Given the description of an element on the screen output the (x, y) to click on. 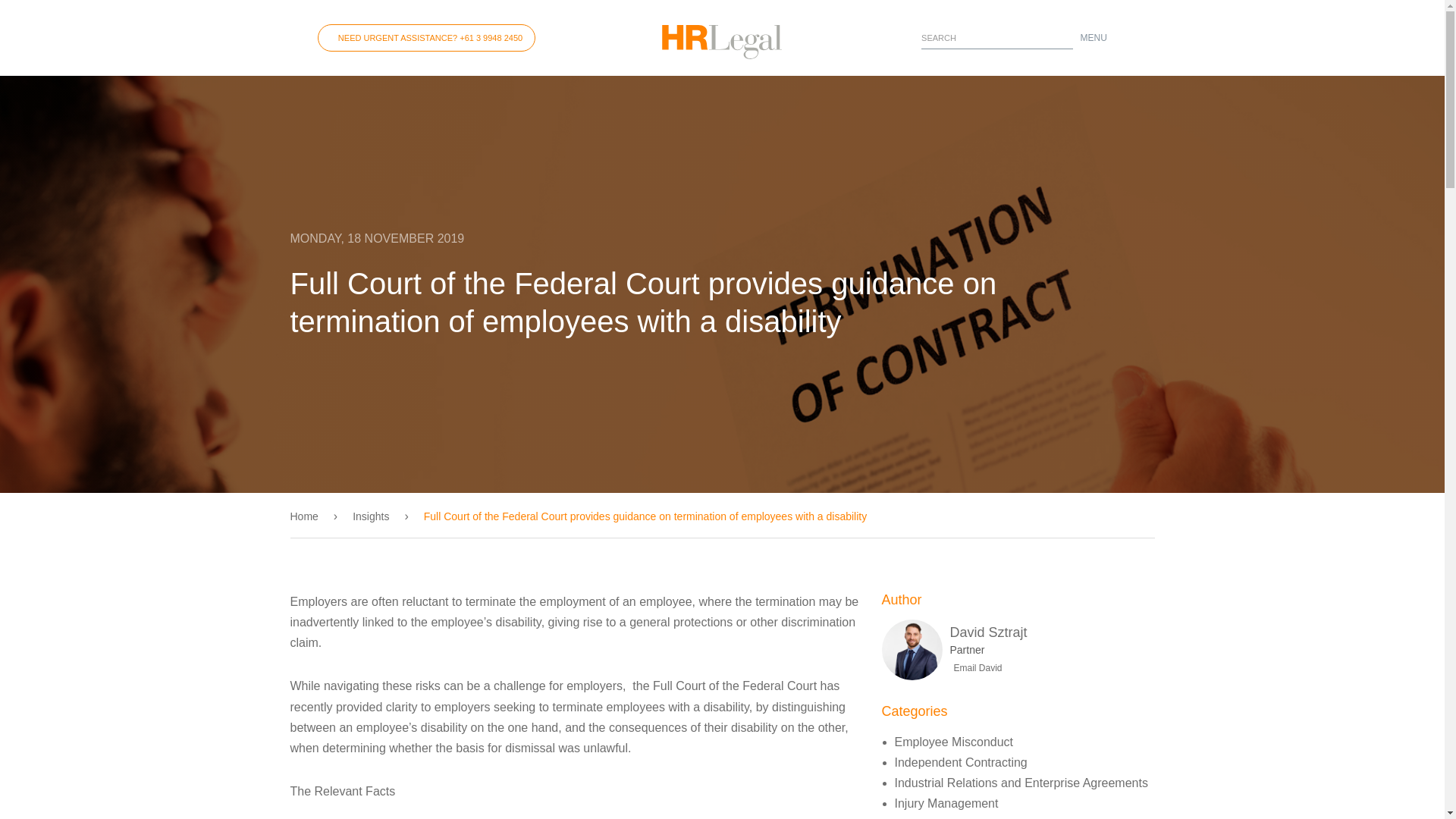
Independent Contracting (961, 762)
Go to the Insights category archives. (370, 515)
Injury Management (946, 802)
Home (311, 515)
Employee Misconduct (954, 741)
Email David (975, 667)
Industrial Relations and Enterprise Agreements (1021, 782)
David Sztrajt (987, 631)
Insights (370, 515)
